Given the description of an element on the screen output the (x, y) to click on. 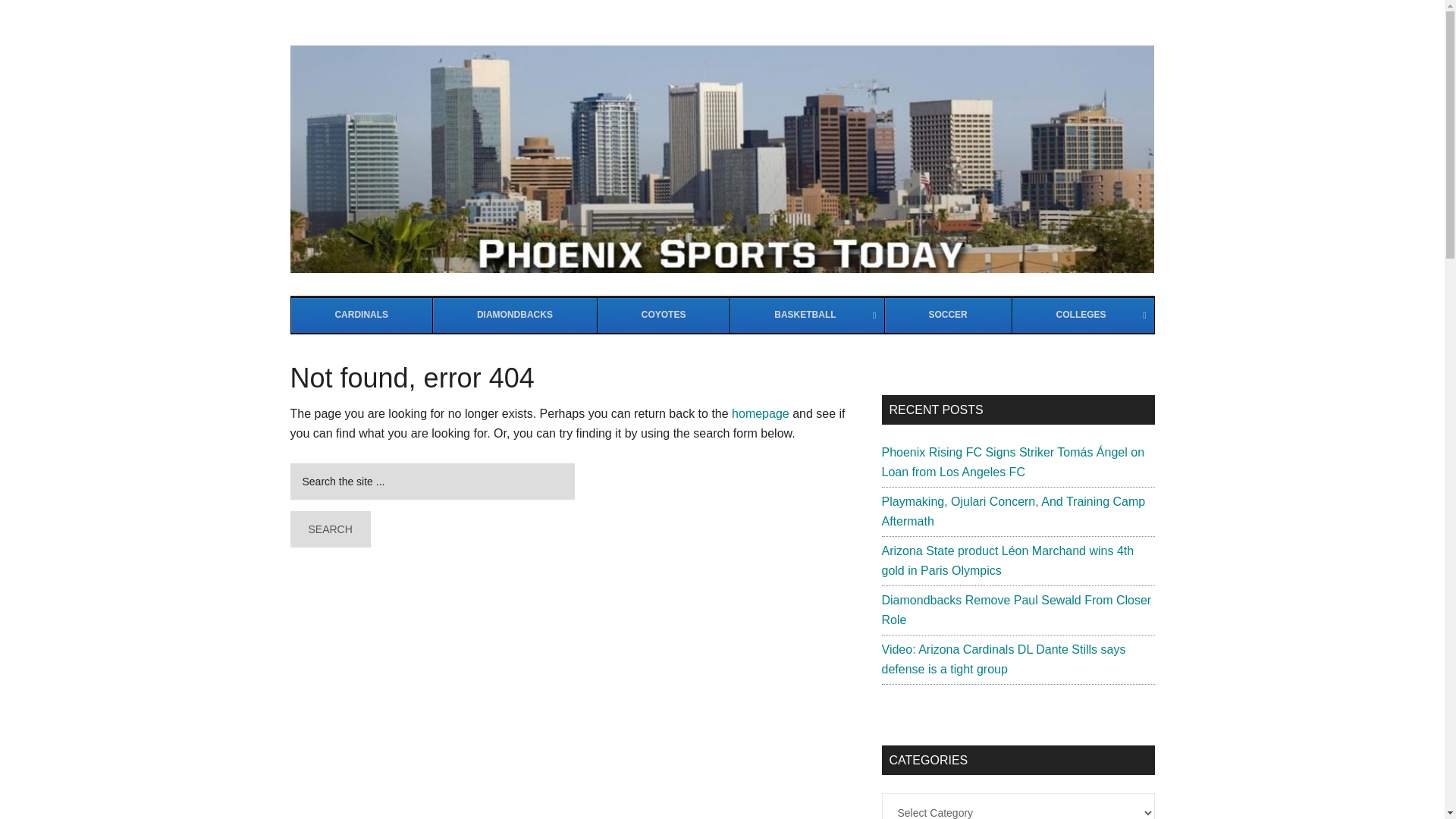
DIAMONDBACKS (514, 315)
Diamondbacks Remove Paul Sewald From Closer Role (1015, 609)
Playmaking, Ojulari Concern, And Training Camp Aftermath (1012, 511)
Search (329, 529)
SOCCER (947, 315)
BASKETBALL (806, 315)
COLLEGES (1082, 315)
Search (329, 529)
homepage (721, 315)
Search (760, 413)
CARDINALS (329, 529)
COYOTES (361, 315)
